Given the description of an element on the screen output the (x, y) to click on. 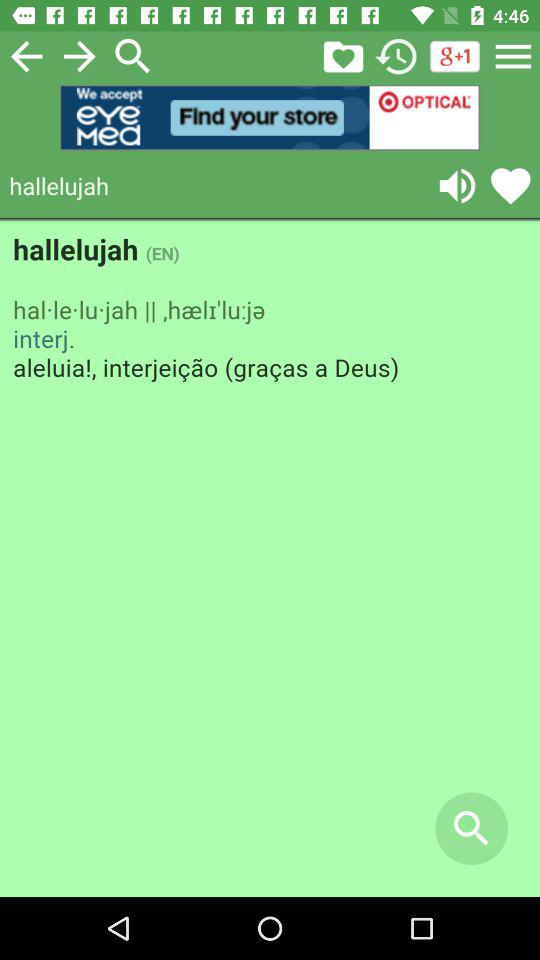
next button (79, 56)
